Given the description of an element on the screen output the (x, y) to click on. 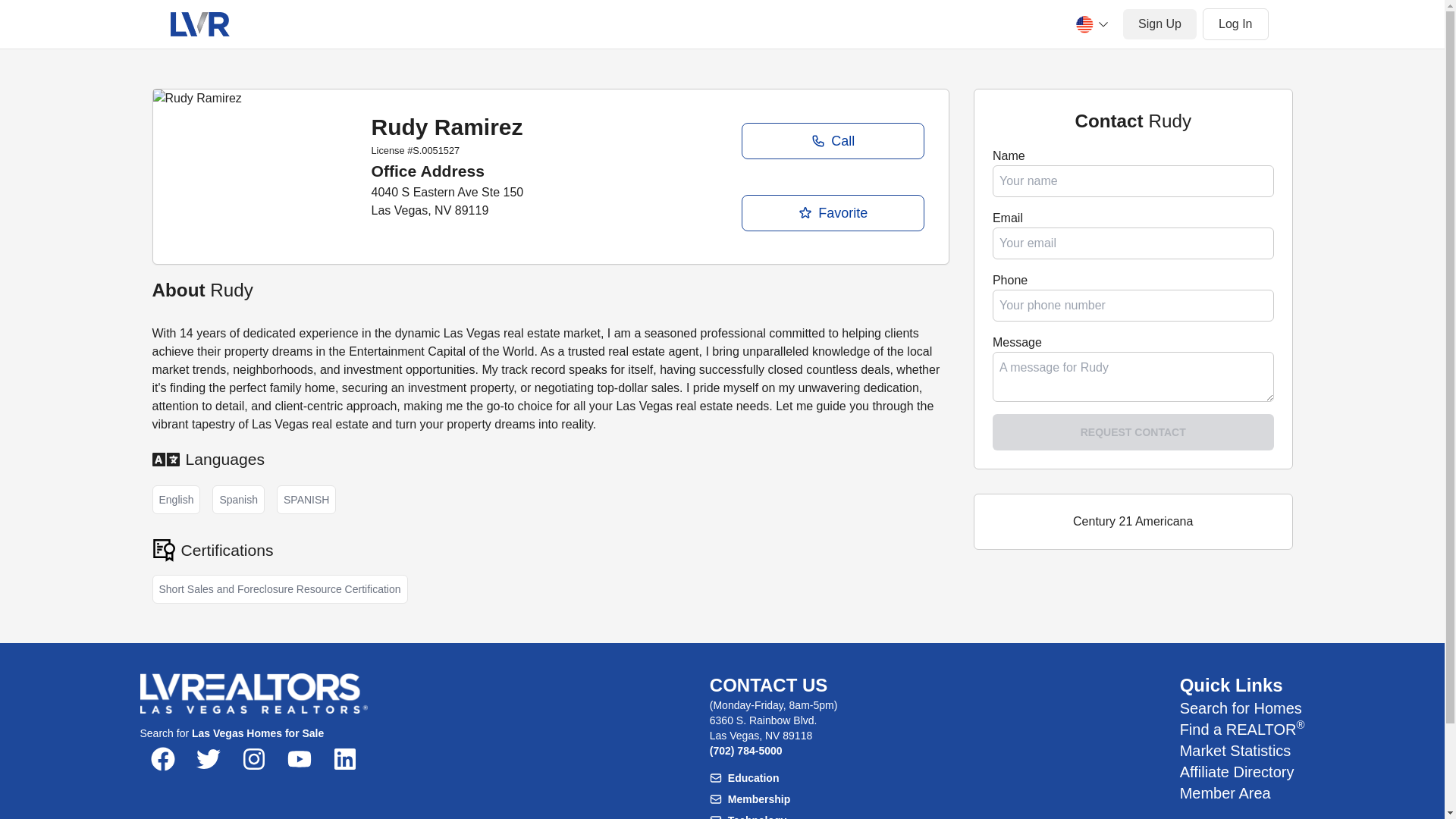
Search for Homes (1240, 708)
Log In (1235, 24)
Sign Up (1159, 24)
REQUEST CONTACT (1133, 432)
Education (774, 777)
Call (832, 140)
Las Vegas Homes for Sale (257, 733)
Favorite (832, 212)
Market Statistics (1235, 750)
Membership (774, 798)
